Given the description of an element on the screen output the (x, y) to click on. 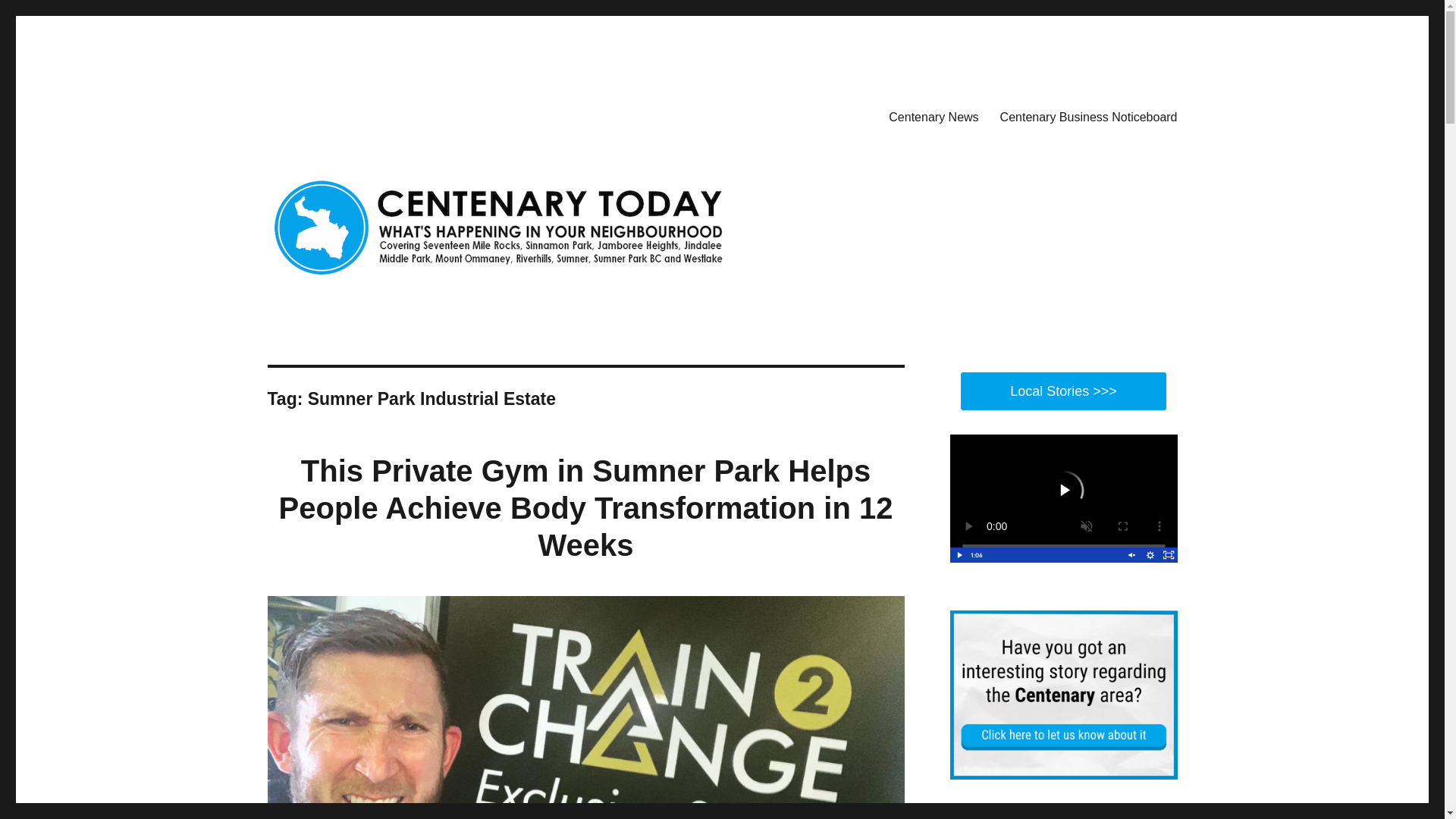
Centenary Business Noticeboard (1089, 116)
Unmute (1131, 554)
Play Video (958, 554)
Centenary Today (352, 114)
Show settings menu (1149, 554)
Centenary News (932, 116)
Fullscreen (1167, 554)
